Given the description of an element on the screen output the (x, y) to click on. 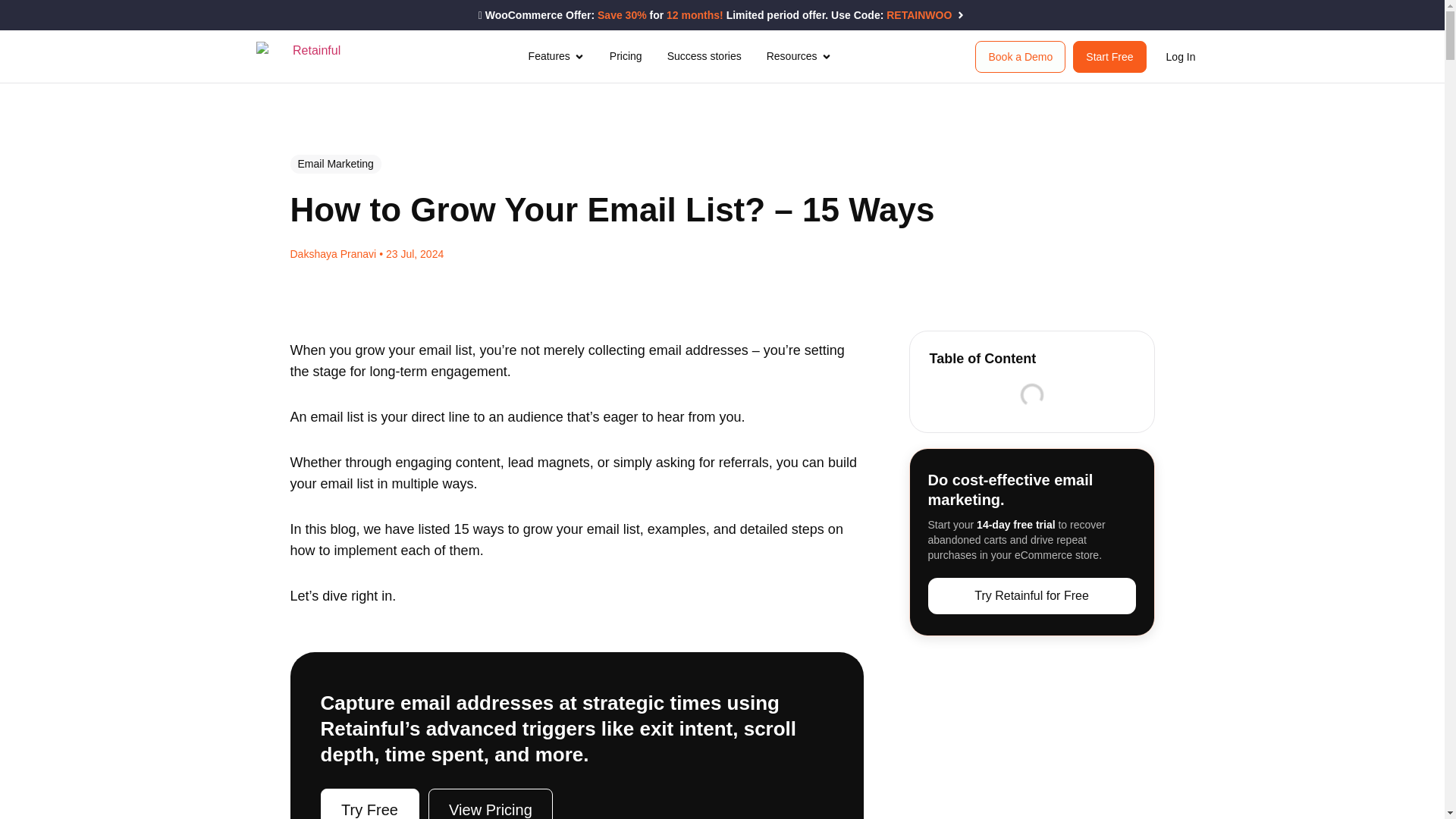
Pricing (626, 56)
Log In (1181, 55)
Success stories (703, 56)
Start Free (1109, 56)
Book a Demo (1020, 56)
